Given the description of an element on the screen output the (x, y) to click on. 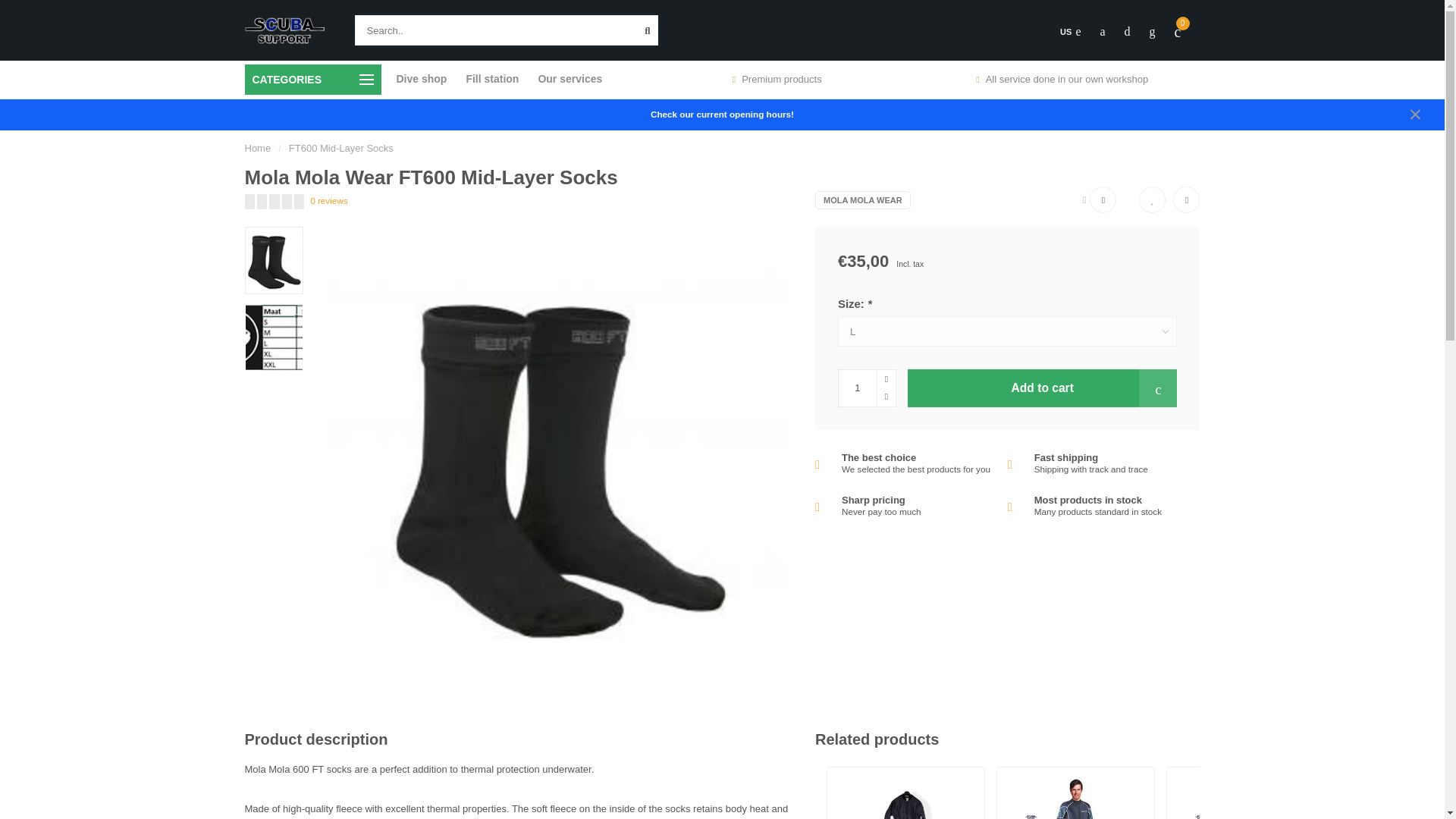
0 (1177, 32)
US (1069, 31)
1 (866, 388)
Home (257, 147)
